Given the description of an element on the screen output the (x, y) to click on. 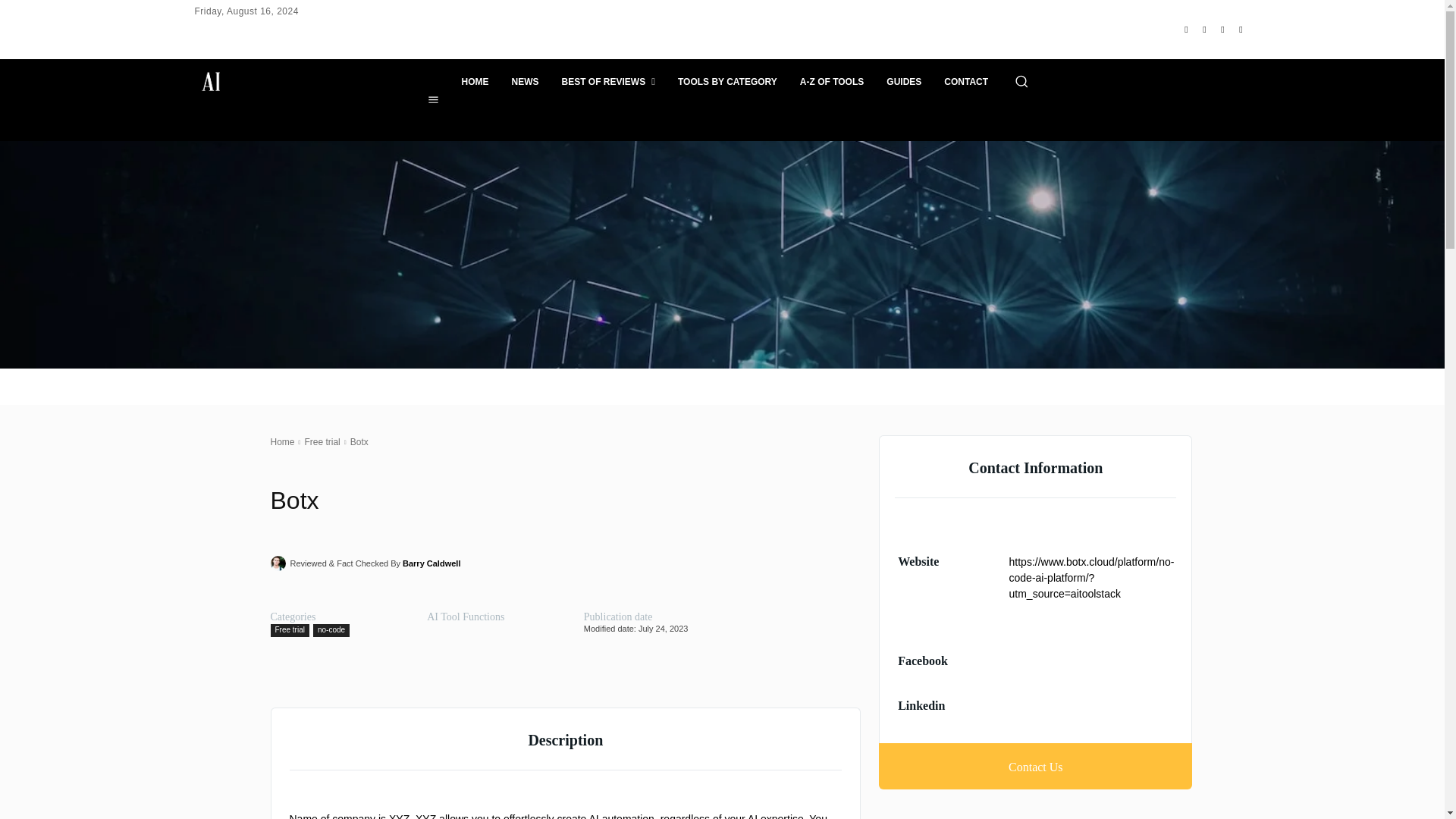
Instagram (1203, 29)
Youtube (1240, 29)
TOOLS BY CATEGORY (727, 81)
Twitter (1221, 29)
AI Tool Stack Logo (223, 81)
no-code (331, 630)
Barry Caldwell (279, 563)
Free trial (288, 630)
Free trial (321, 441)
Barry Caldwell (431, 563)
